Given the description of an element on the screen output the (x, y) to click on. 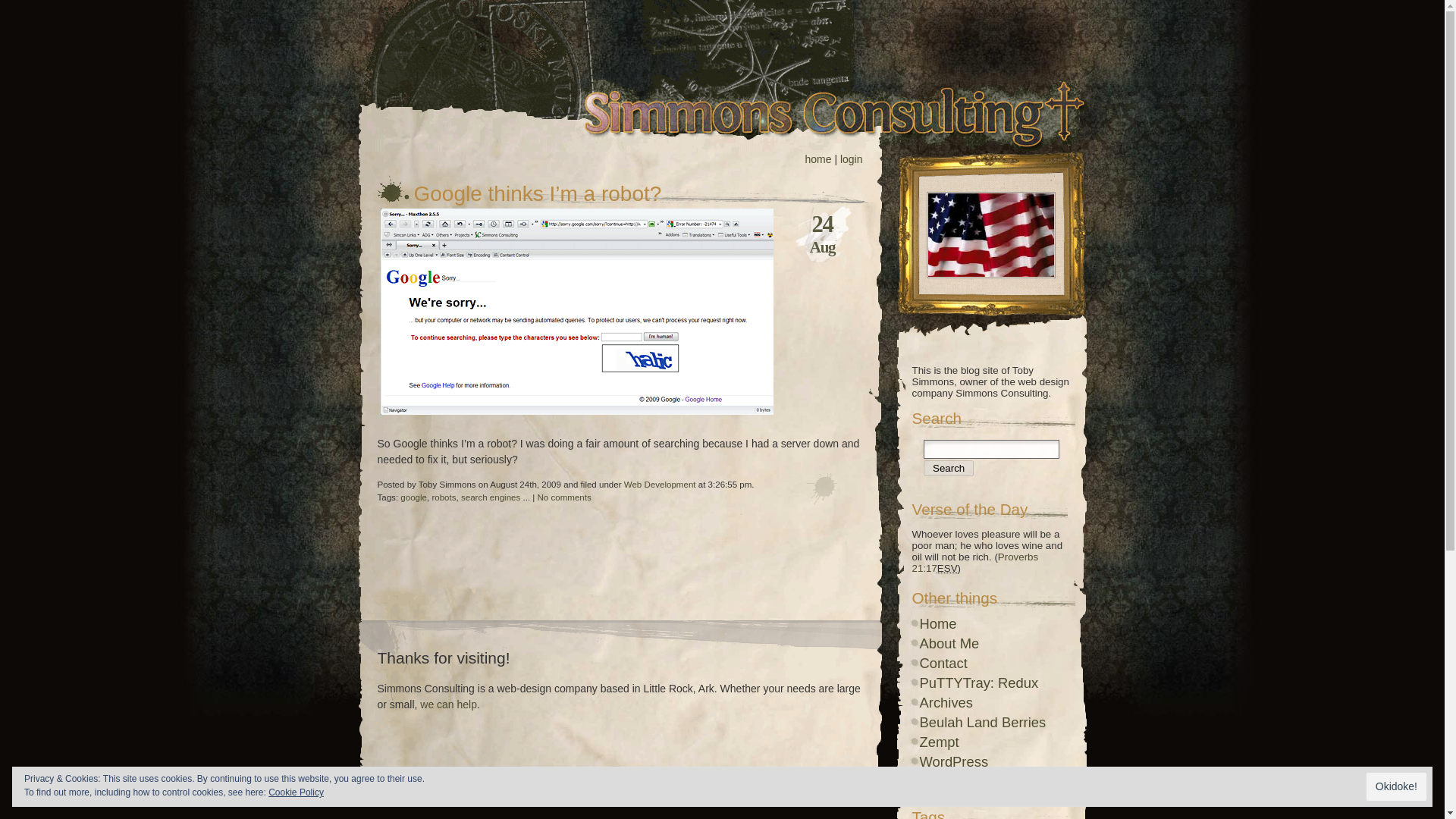
PuTTYTray: Redux (978, 682)
Contact (942, 662)
Contact (942, 662)
Proverbs 21:17 (974, 562)
Powered by WordPress (953, 761)
Home (937, 623)
Beulah Land Berries (981, 722)
Login (935, 781)
English Standard Version (947, 568)
home (818, 159)
